Given the description of an element on the screen output the (x, y) to click on. 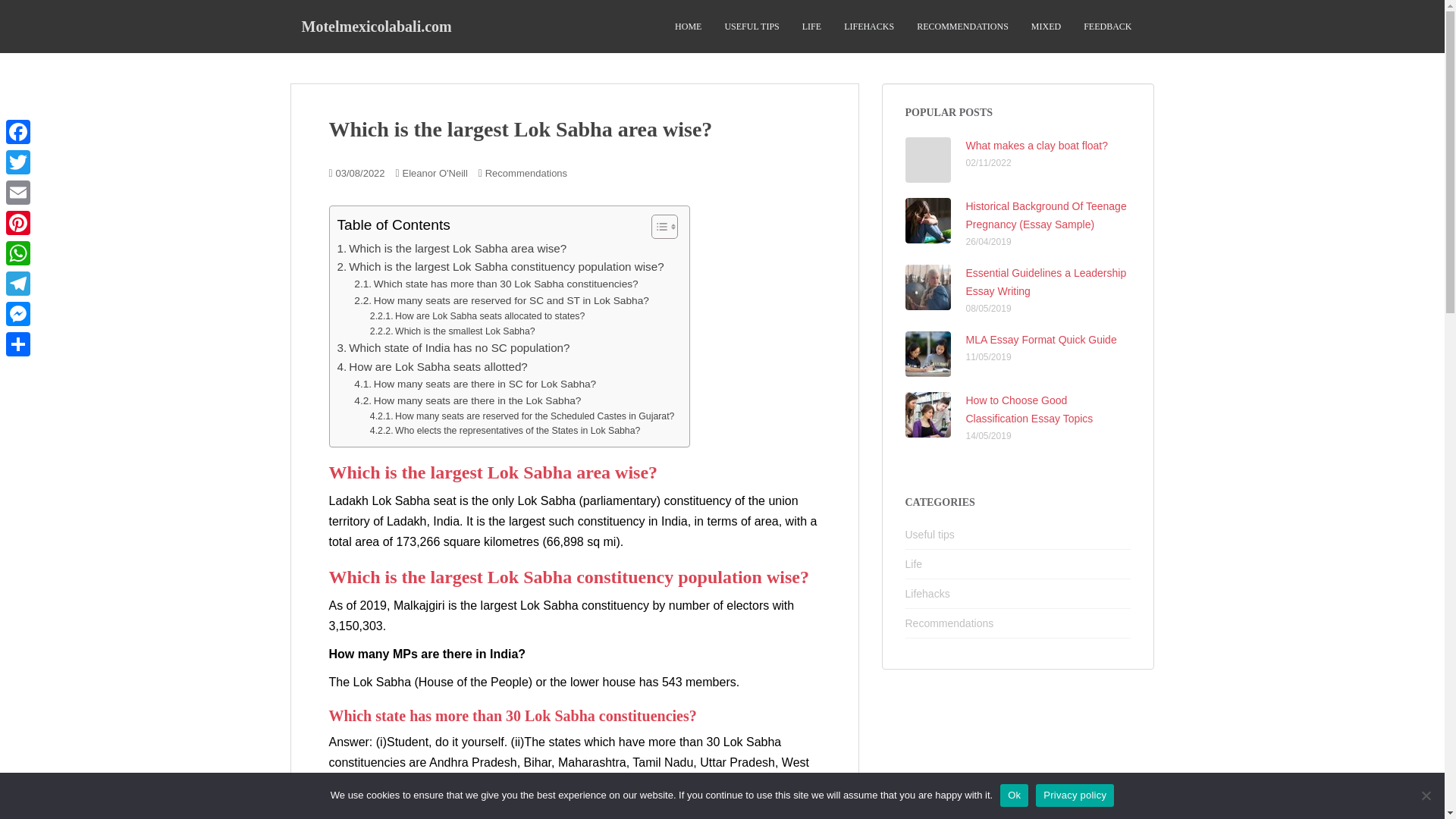
How are Lok Sabha seats allocated to states? (477, 316)
USEFUL TIPS (750, 26)
MIXED (1045, 26)
Which is the smallest Lok Sabha? (452, 331)
Motelmexicolabali.com (376, 26)
Recommendations (525, 173)
How many seats are reserved for SC and ST in Lok Sabha? (501, 300)
How many seats are there in the Lok Sabha? (466, 401)
How are Lok Sabha seats allocated to states? (477, 316)
Motelmexicolabali.com (376, 26)
How are Lok Sabha seats allotted? (431, 366)
How many seats are there in the Lok Sabha? (466, 401)
Which is the largest Lok Sabha area wise? (451, 248)
FEEDBACK (1107, 26)
Which is the largest Lok Sabha constituency population wise? (499, 266)
